Given the description of an element on the screen output the (x, y) to click on. 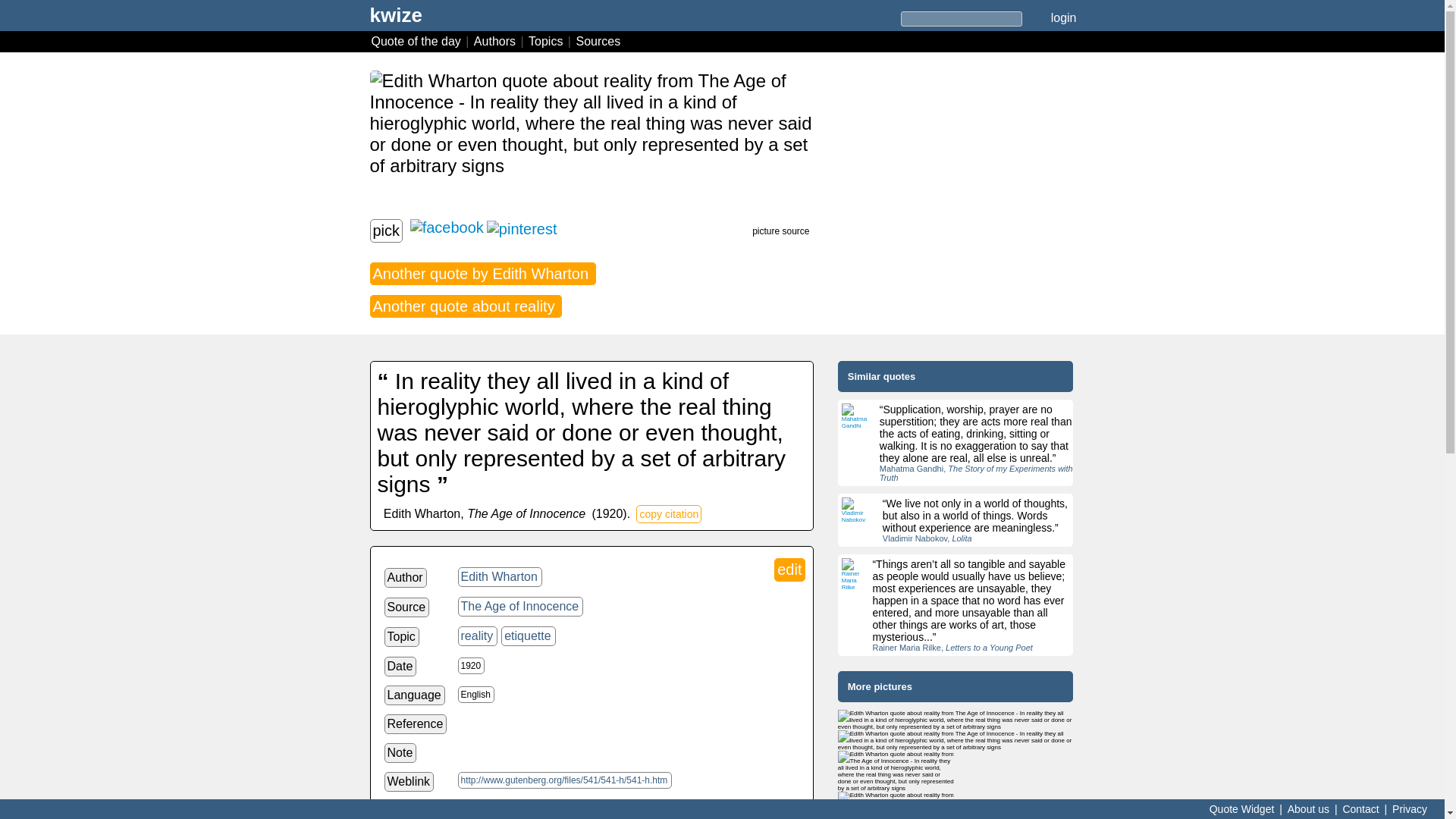
Another quote by Edith Wharton  (482, 273)
Privacy (1409, 808)
copy citation (668, 514)
Topics (547, 41)
edit (789, 569)
kwize (395, 19)
Edith Wharton quote about reality from The Age of Innocence (896, 771)
Another quote about reality  (465, 305)
Edith Wharton quote about reality from The Age of Innocence (591, 140)
Edith Wharton quote about reality from The Age of Innocence (955, 740)
Edith Wharton quote about reality from The Age of Innocence (955, 720)
The Age of Innocence (520, 606)
Edith Wharton (499, 577)
Authors (496, 41)
Quote Widget (1241, 808)
